Given the description of an element on the screen output the (x, y) to click on. 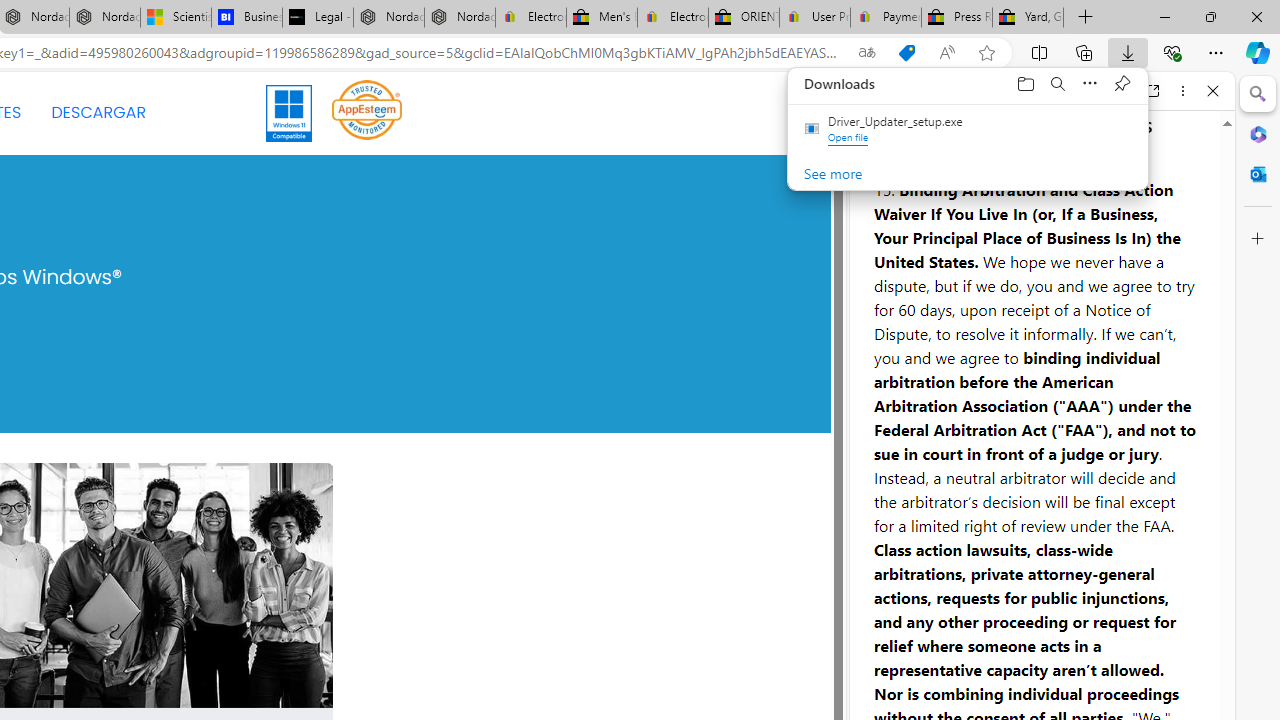
Windows 11 (289, 112)
Minimize Search pane (1258, 94)
microsoft.com (1045, 90)
Pin downloads (1122, 83)
App Esteem (367, 112)
Open downloads folder (1025, 83)
